Given the description of an element on the screen output the (x, y) to click on. 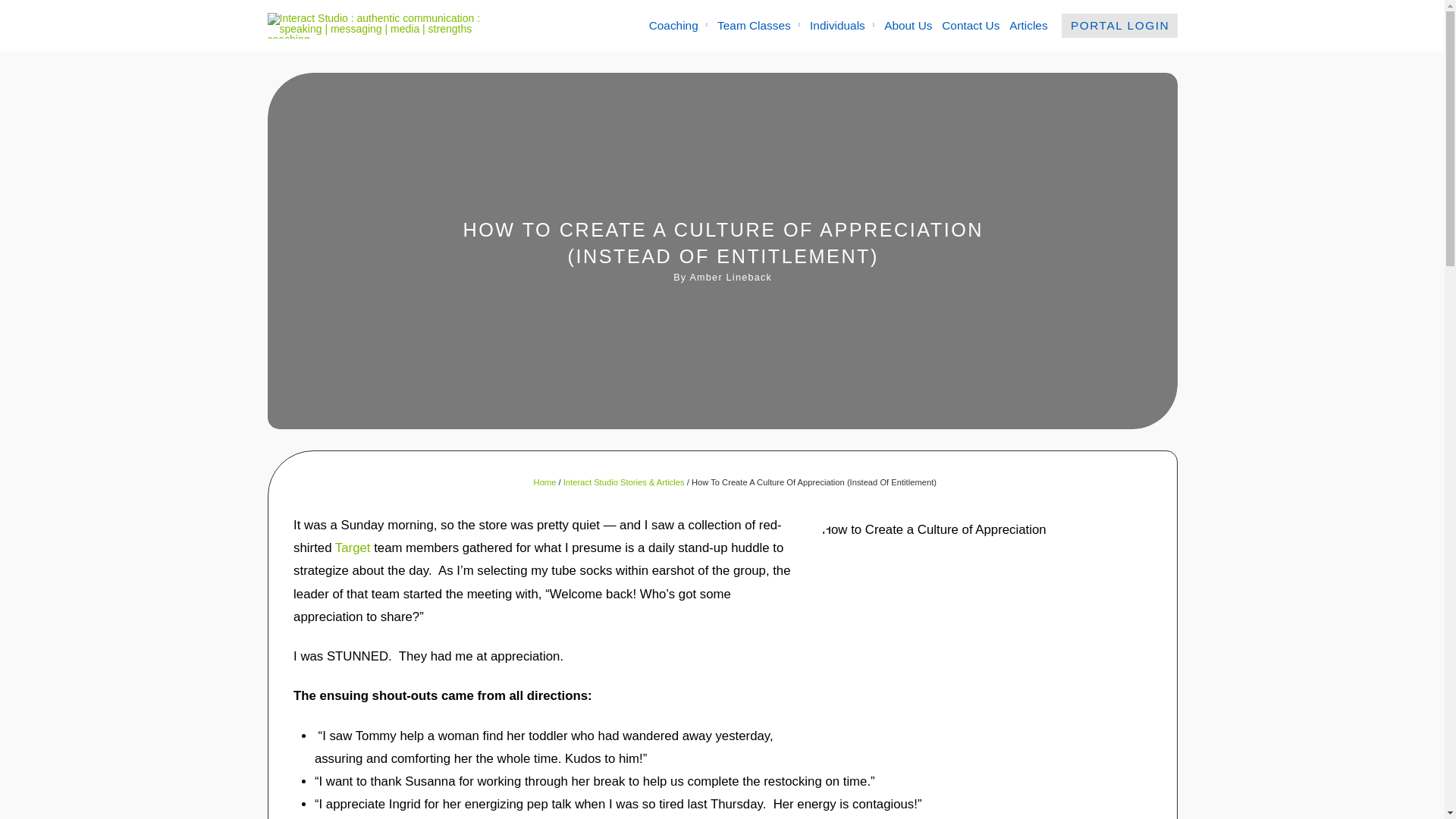
About Us (908, 25)
Team Classes (759, 25)
Individuals (842, 25)
Home (545, 481)
Coaching (677, 25)
Contact Us (970, 25)
PORTAL LOGIN (1118, 25)
Target (352, 547)
Articles (1028, 25)
